Given the description of an element on the screen output the (x, y) to click on. 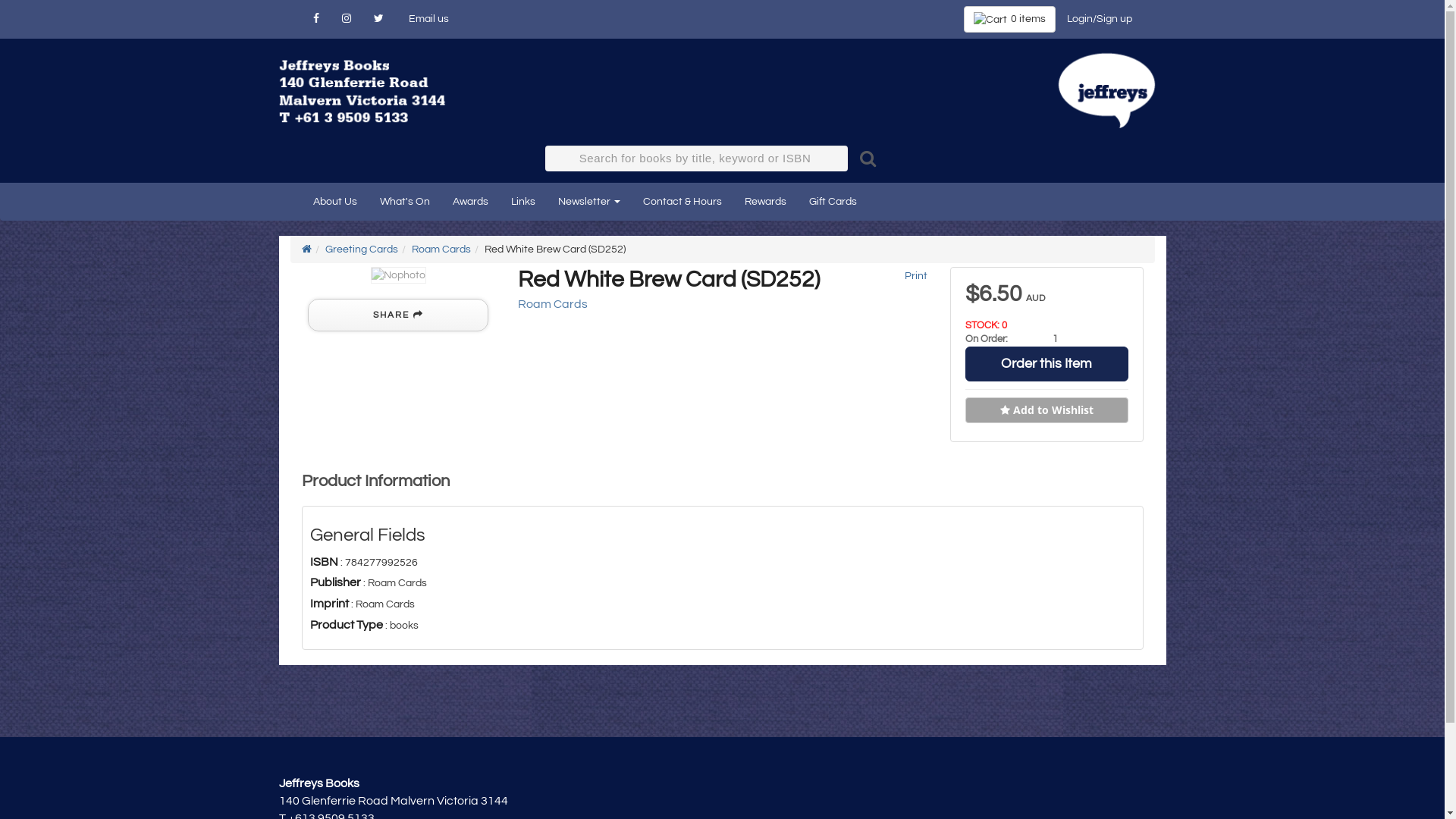
Greeting Cards Element type: text (360, 249)
Newsletter  Element type: text (588, 201)
Rewards Element type: text (764, 201)
SHARE Element type: text (397, 314)
0 items Element type: text (1008, 19)
What's On Element type: text (404, 201)
Login/Sign up Element type: text (1099, 18)
Gift Cards Element type: text (832, 201)
Roam Cards Element type: text (551, 304)
Order this Item Element type: text (1045, 363)
Add to Wishlist Element type: text (1045, 410)
Contact & Hours Element type: text (681, 201)
Awards Element type: text (470, 201)
About Us Element type: text (334, 201)
Email us Element type: text (426, 18)
0 items Element type: text (1008, 19)
Roam Cards Element type: text (440, 249)
 Print Element type: text (914, 275)
Links Element type: text (522, 201)
